Given the description of an element on the screen output the (x, y) to click on. 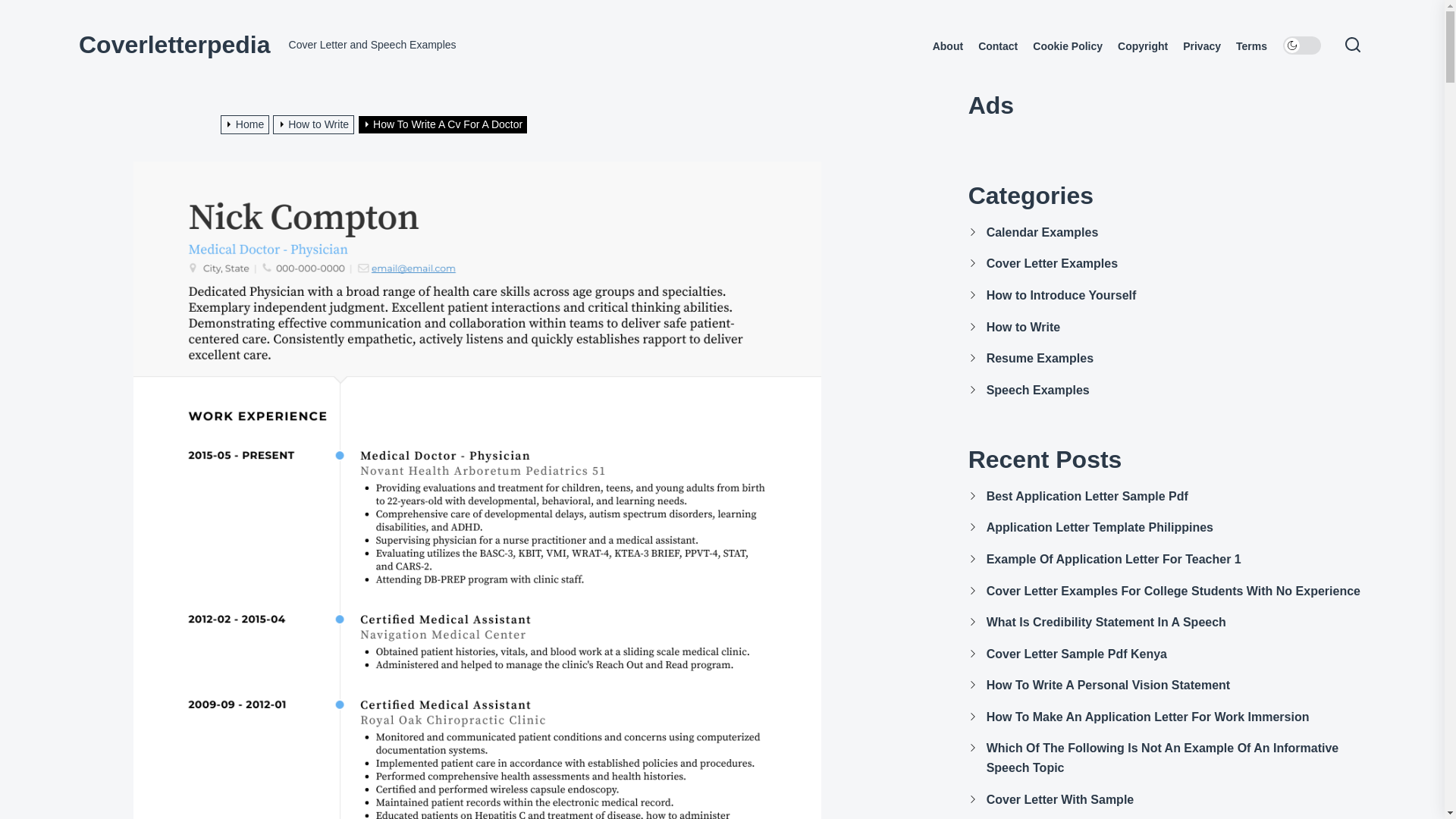
Copyright (1142, 46)
Home (247, 123)
Contact (997, 46)
How To Write A Cv For A Doctor (444, 123)
Terms (1251, 46)
Privacy (1201, 46)
Cookie Policy (1067, 46)
About (947, 46)
How to Write (315, 123)
